Given the description of an element on the screen output the (x, y) to click on. 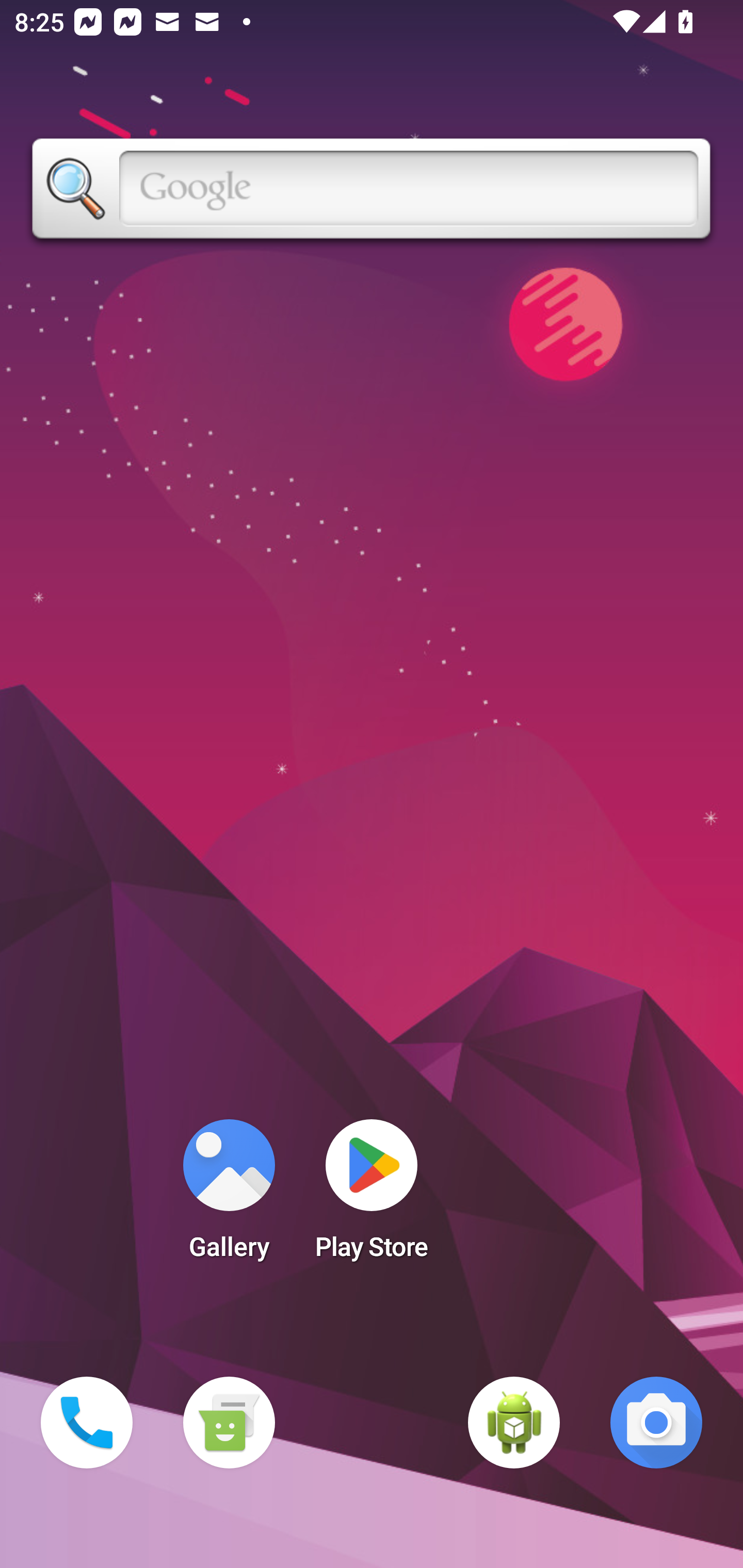
Gallery (228, 1195)
Play Store (371, 1195)
Phone (86, 1422)
Messaging (228, 1422)
WebView Browser Tester (513, 1422)
Camera (656, 1422)
